Given the description of an element on the screen output the (x, y) to click on. 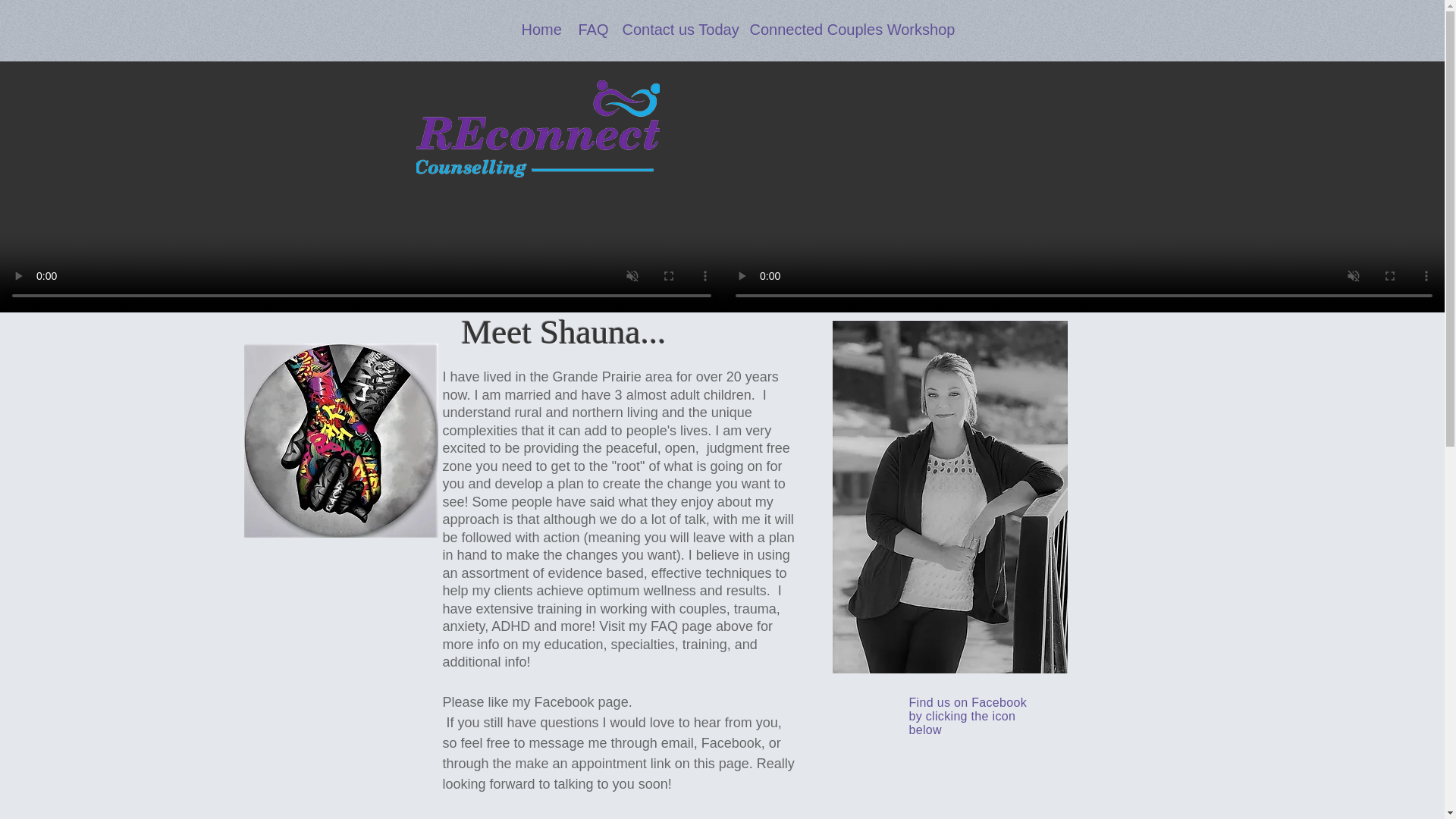
Connected Couples Workshop (840, 29)
Contact us Today (674, 29)
Home (537, 29)
